Given the description of an element on the screen output the (x, y) to click on. 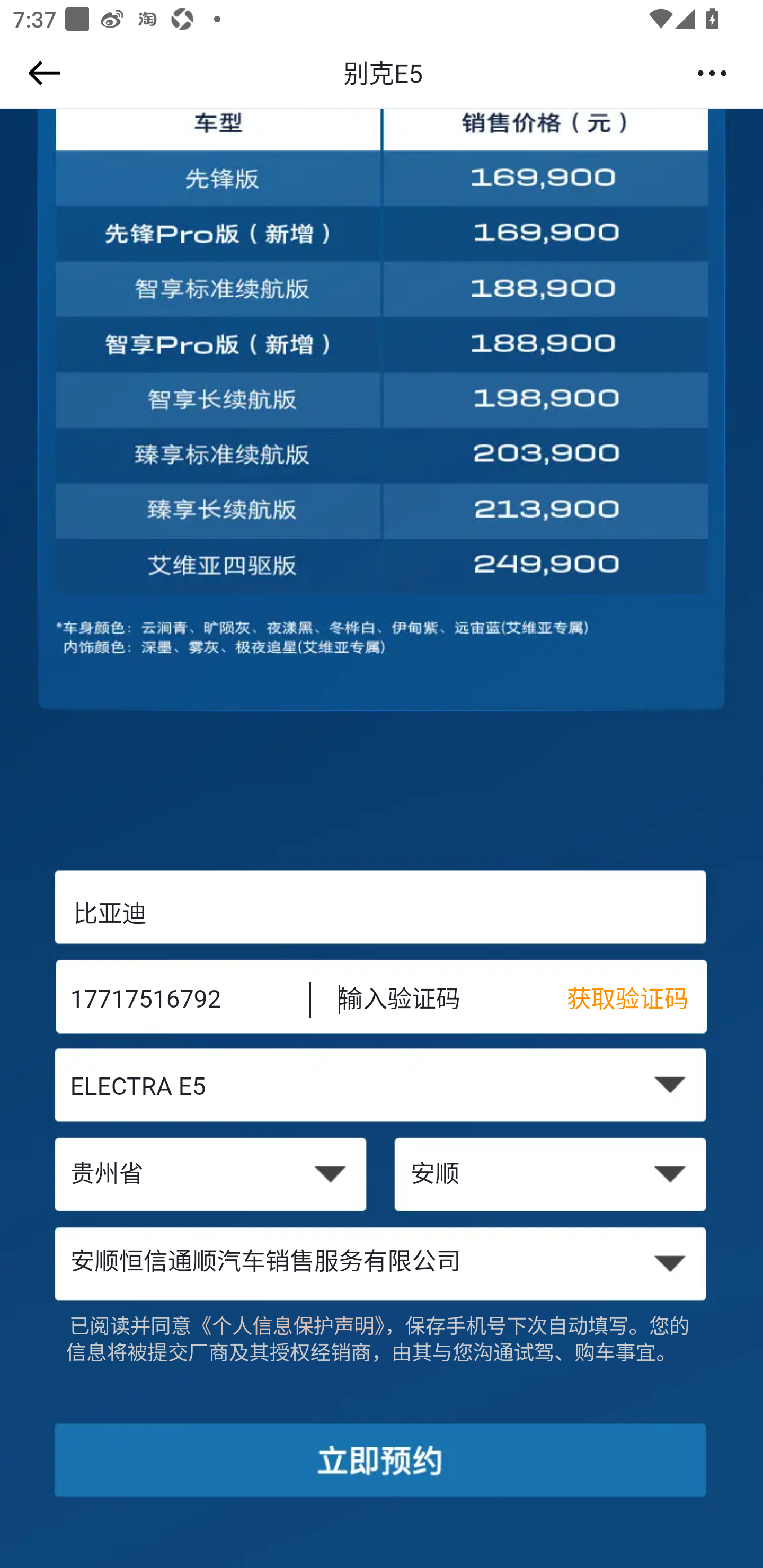
 (41, 72)
比亚迪 (381, 912)
17717516792 (176, 1001)
获取验证码 (637, 1001)
ELECTRA E5 (381, 1088)
贵州省 (210, 1175)
安顺 (552, 1175)
安顺恒信通顺汽车销售服务有限公司 (381, 1262)
